Given the description of an element on the screen output the (x, y) to click on. 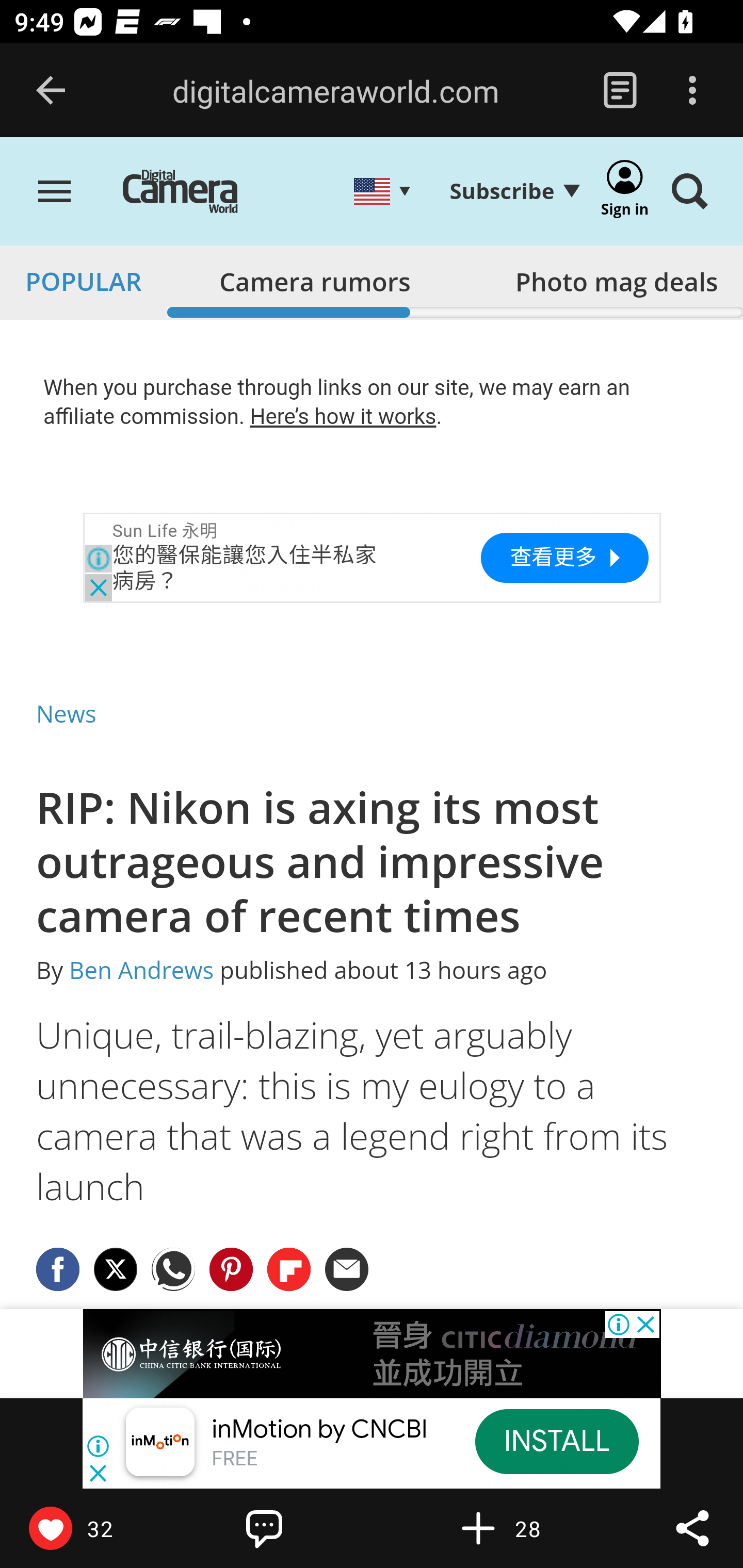
Back (50, 90)
Reader View (619, 90)
Options (692, 90)
Open menu (54, 192)
Digital Camera World (202, 192)
Sign in (625, 192)
Search (689, 192)
Subscribe (514, 190)
Camera rumors (314, 281)
Photo mag deals (616, 281)
Here’s how it works (342, 415)
Return to News News (66, 712)
Ben Andrews (141, 970)
Share this page on Facebook (58, 1268)
 Share this page on Twitter (115, 1268)
Share this page on WhatsApp (173, 1268)
Share this page on Pinterest (230, 1268)
Share this page on Flipboard (289, 1268)
Share this page on your Email  (347, 1268)
INSTALL (556, 1441)
inMotion by CNCBI (319, 1429)
FREE (234, 1459)
Like 32 (93, 1528)
Write a comment… (307, 1528)
Flip into Magazine 28 (521, 1528)
Share (692, 1528)
